Given the description of an element on the screen output the (x, y) to click on. 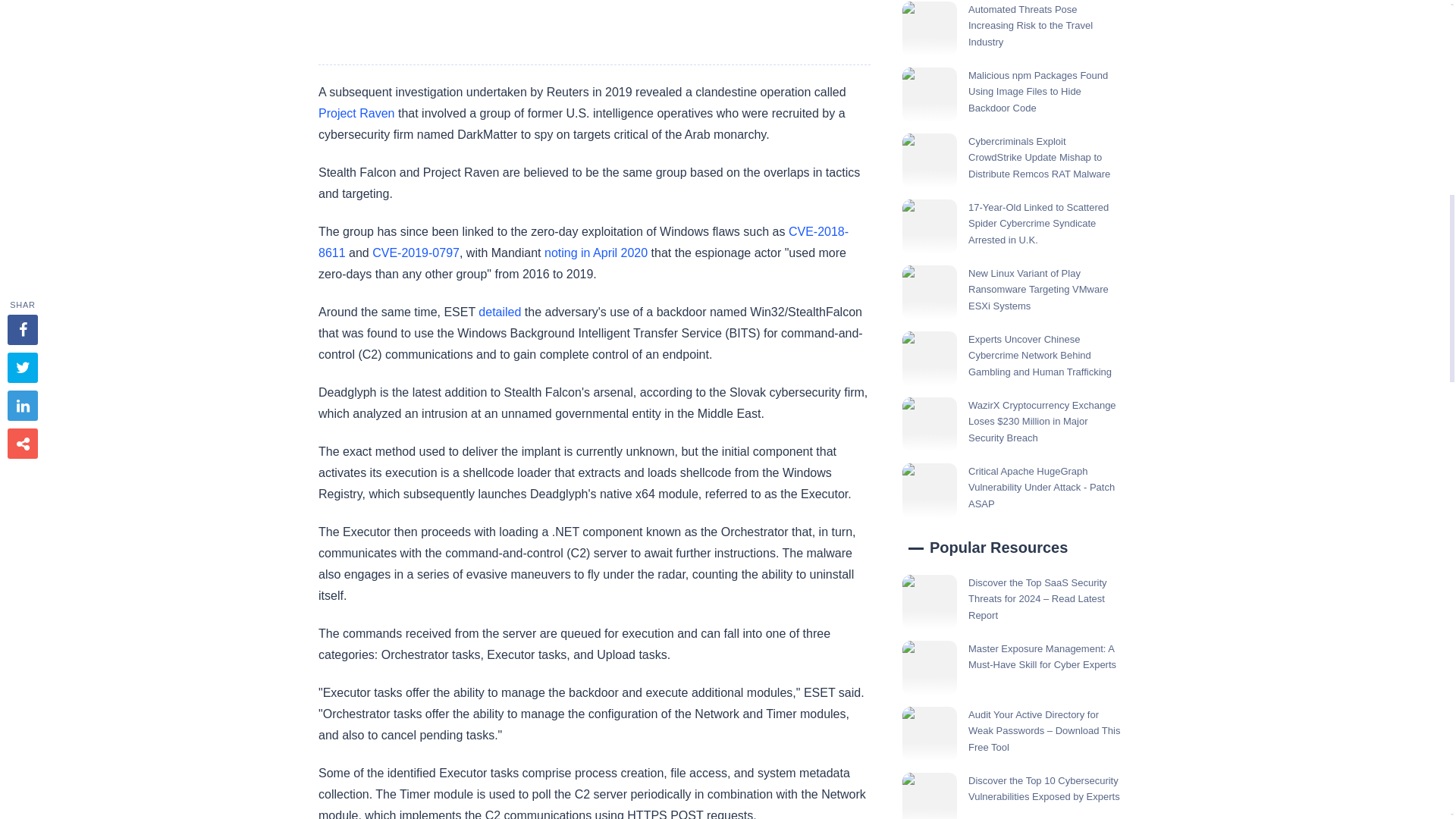
Cybersecurity (593, 24)
